Given the description of an element on the screen output the (x, y) to click on. 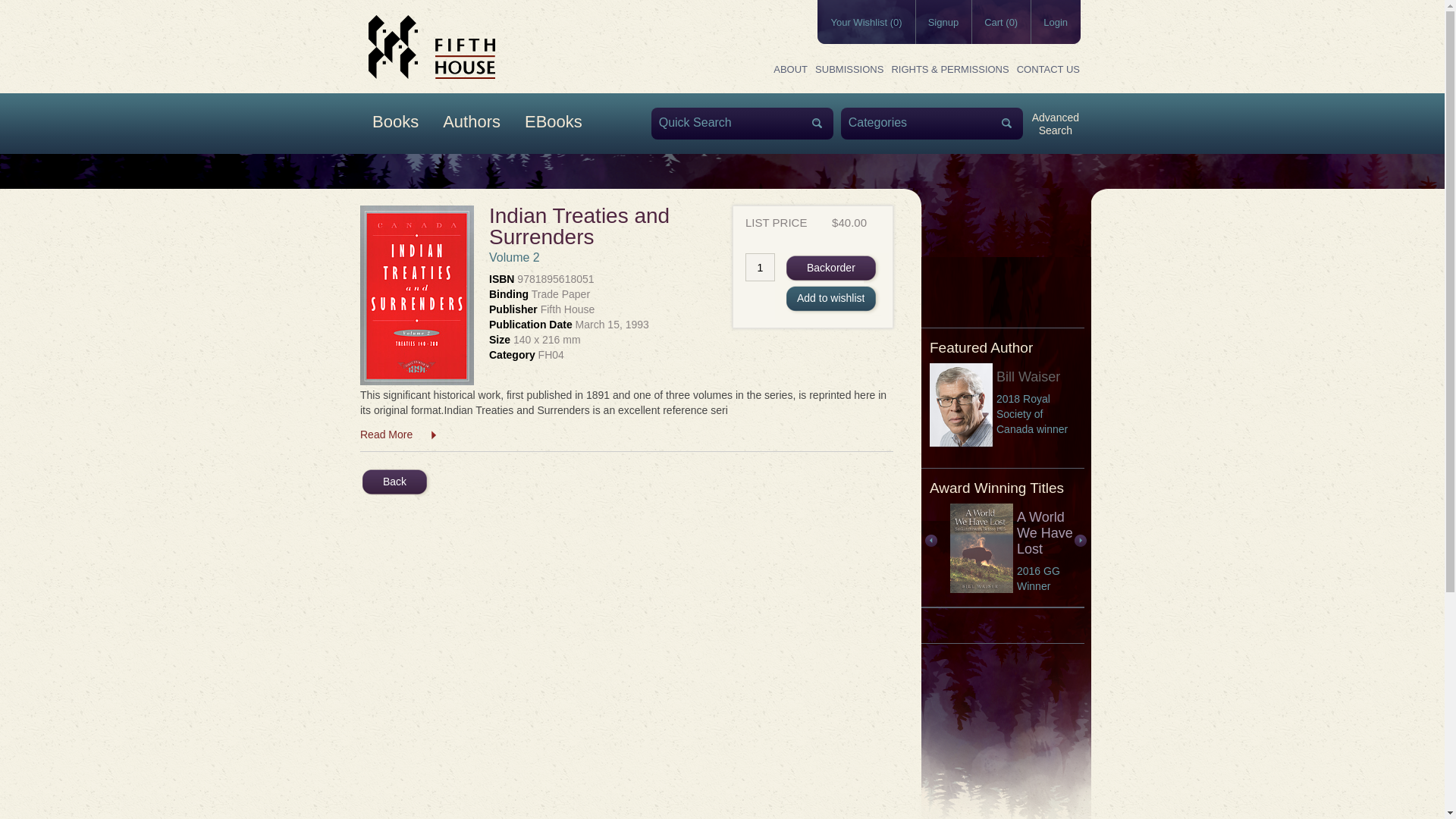
Login (1055, 21)
EBooks (553, 123)
About Fifth House (790, 69)
Categories (921, 122)
SUBMISSIONS (1055, 122)
ABOUT (849, 69)
Books (790, 69)
Your Wishlist (394, 123)
Quick Search (865, 21)
